Given the description of an element on the screen output the (x, y) to click on. 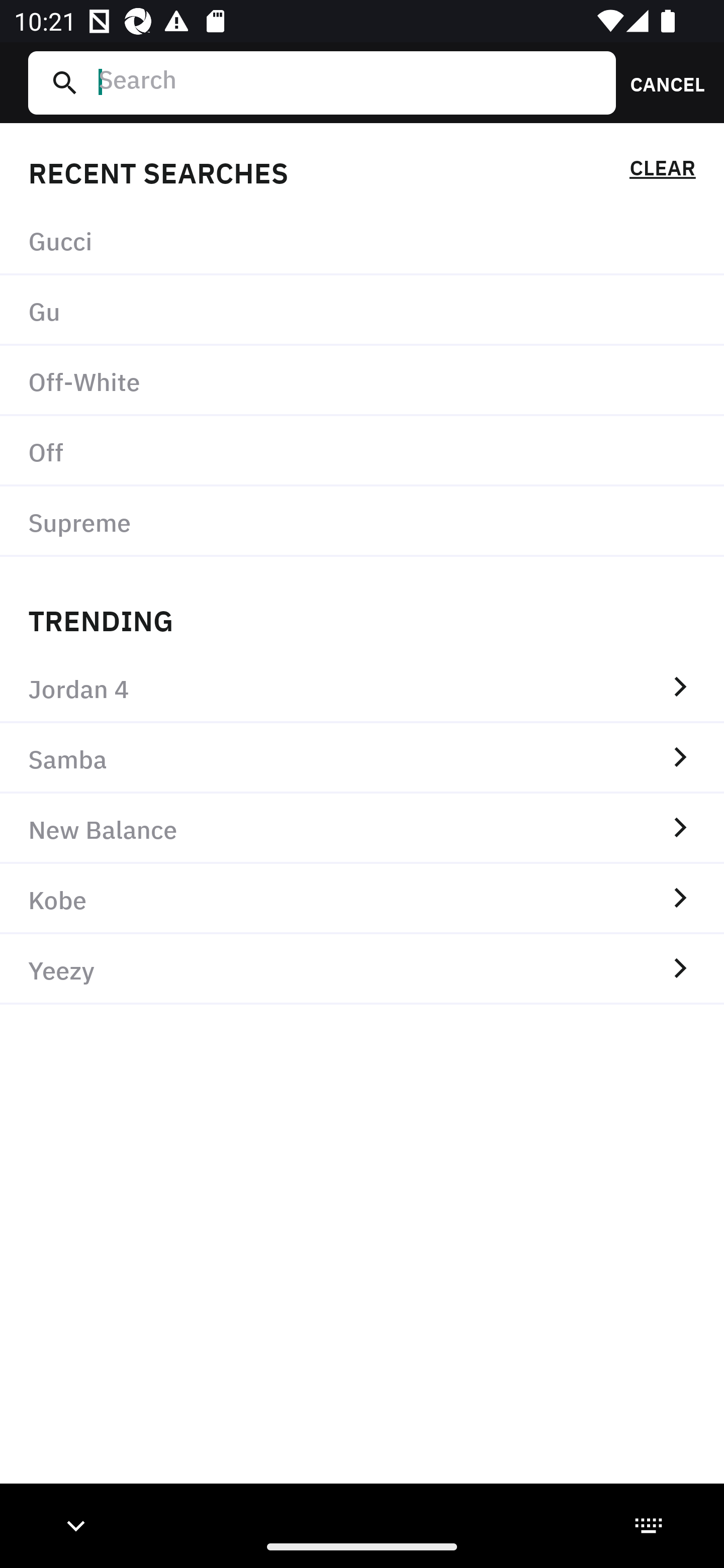
CANCEL (660, 82)
Search (349, 82)
CLEAR (662, 170)
Gucci (362, 240)
Gu (362, 310)
Off-White (362, 380)
Off (362, 450)
Supreme (362, 521)
Jordan 4  (362, 687)
Samba  (362, 757)
New Balance  (362, 828)
Kobe  (362, 898)
Yeezy  (362, 969)
